Given the description of an element on the screen output the (x, y) to click on. 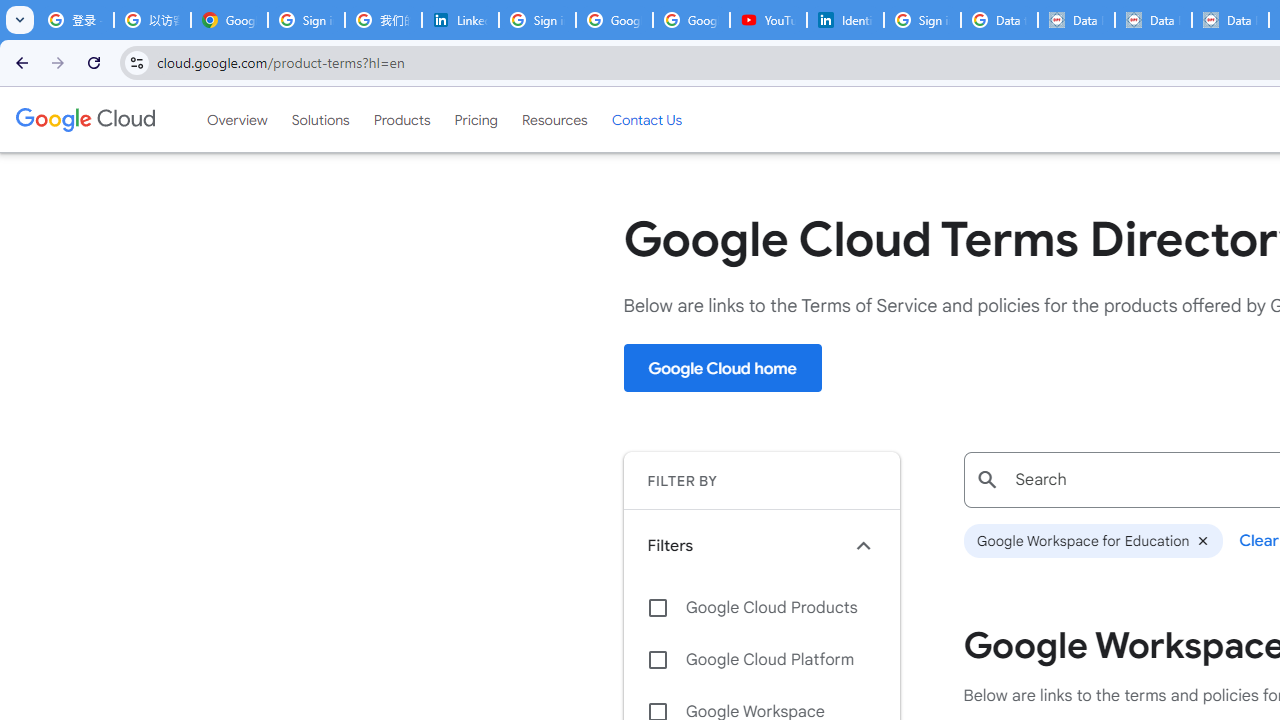
Pricing (476, 119)
Resources (553, 119)
Products (401, 119)
Data Privacy Framework (1152, 20)
Solutions (320, 119)
Contact Us (646, 119)
LinkedIn Privacy Policy (460, 20)
Filters keyboard_arrow_up (761, 545)
Sign in - Google Accounts (306, 20)
